Given the description of an element on the screen output the (x, y) to click on. 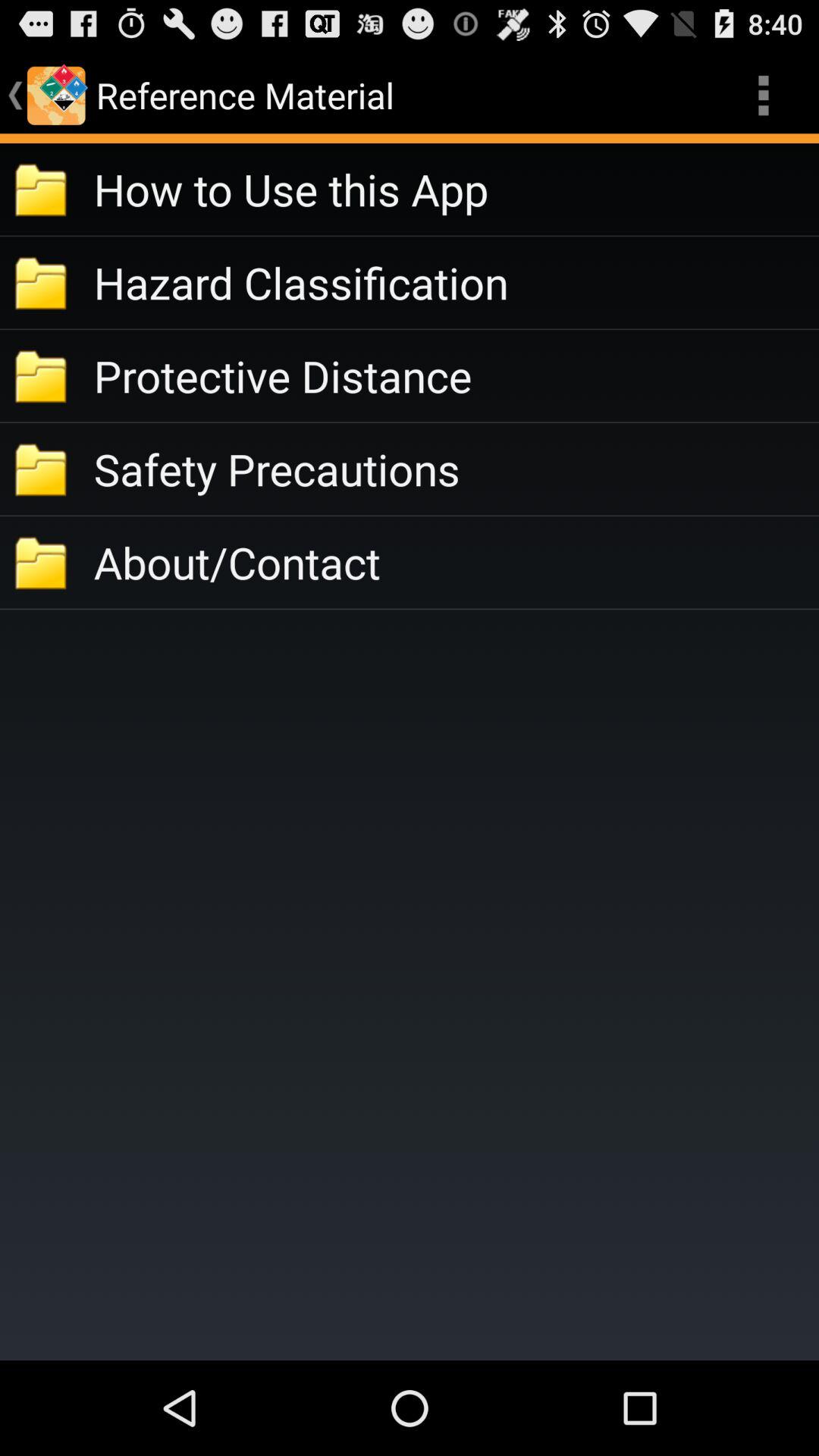
click app below hazard classification app (456, 375)
